Given the description of an element on the screen output the (x, y) to click on. 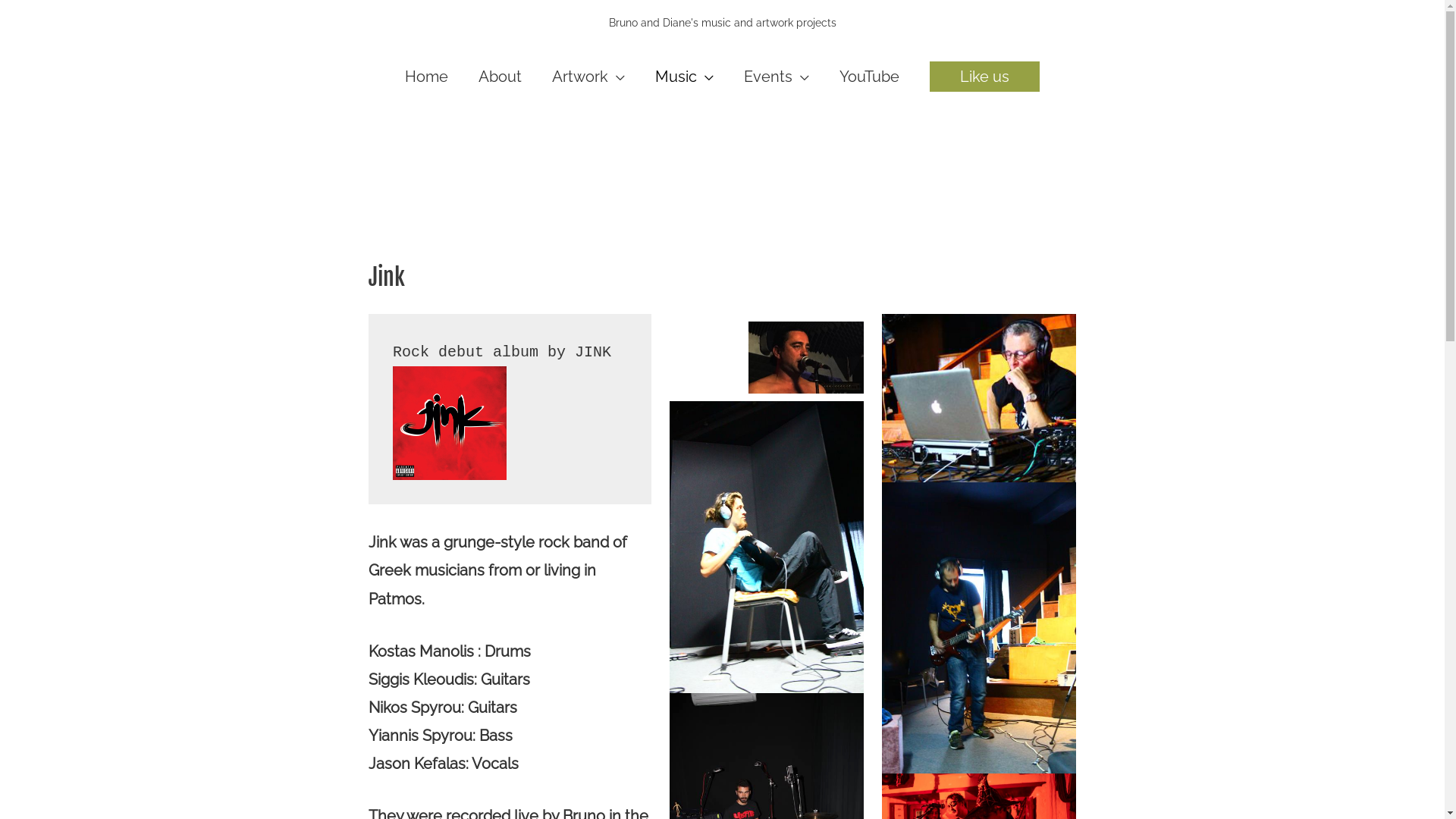
YouTube Element type: text (869, 76)
About Element type: text (499, 76)
Music Element type: text (684, 76)
Events Element type: text (776, 76)
Home Element type: text (426, 76)
Artwork Element type: text (588, 76)
Like us Element type: text (984, 76)
